Given the description of an element on the screen output the (x, y) to click on. 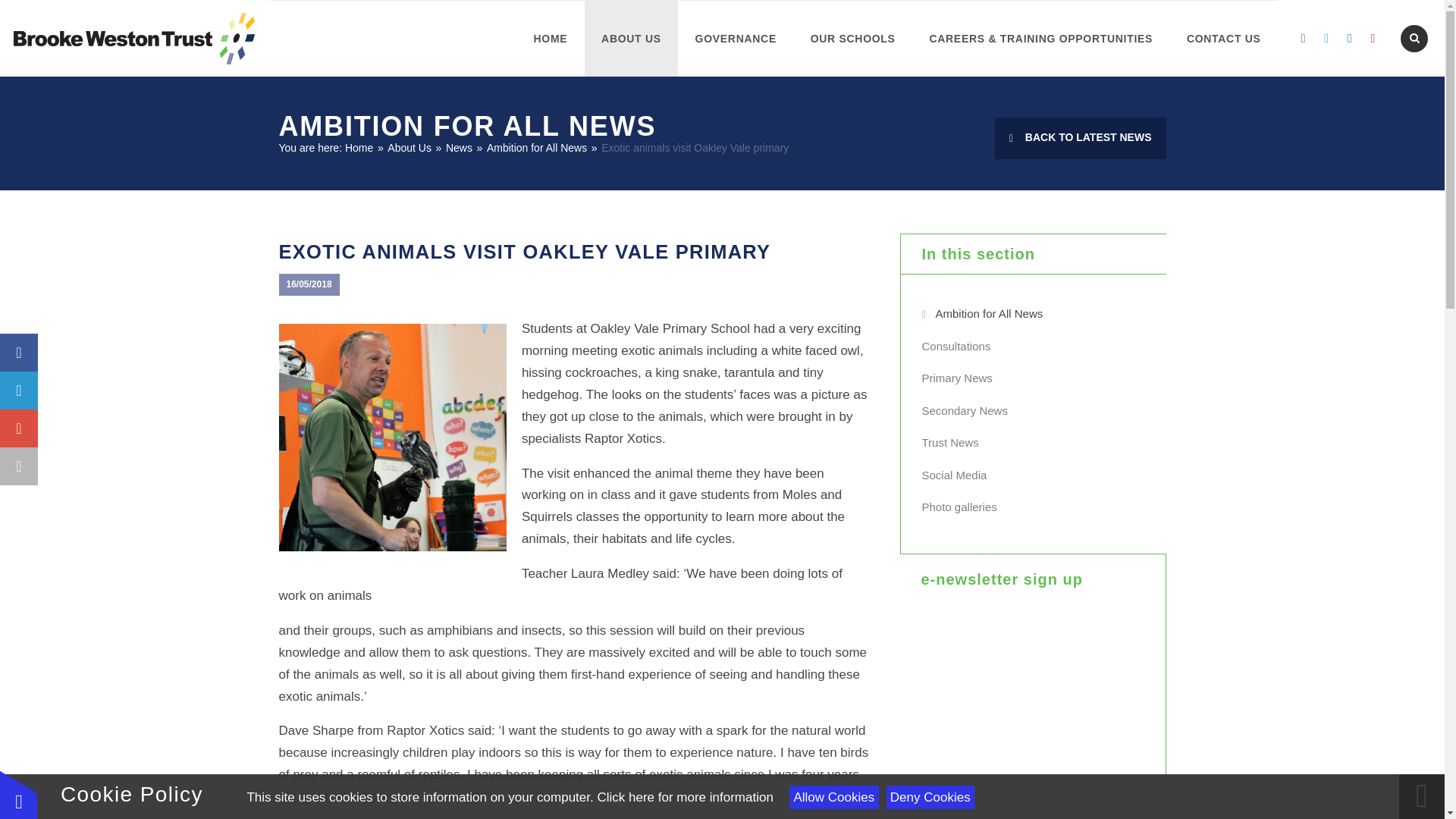
BROOKE WESTON TRUST (133, 37)
HOME (550, 38)
Search... (1414, 37)
See cookie policy (684, 797)
Deny Cookies (930, 797)
Search... (1414, 37)
OUR SCHOOLS (852, 38)
GOVERNANCE (735, 38)
Allow Cookies (833, 797)
ABOUT US (631, 38)
